Given the description of an element on the screen output the (x, y) to click on. 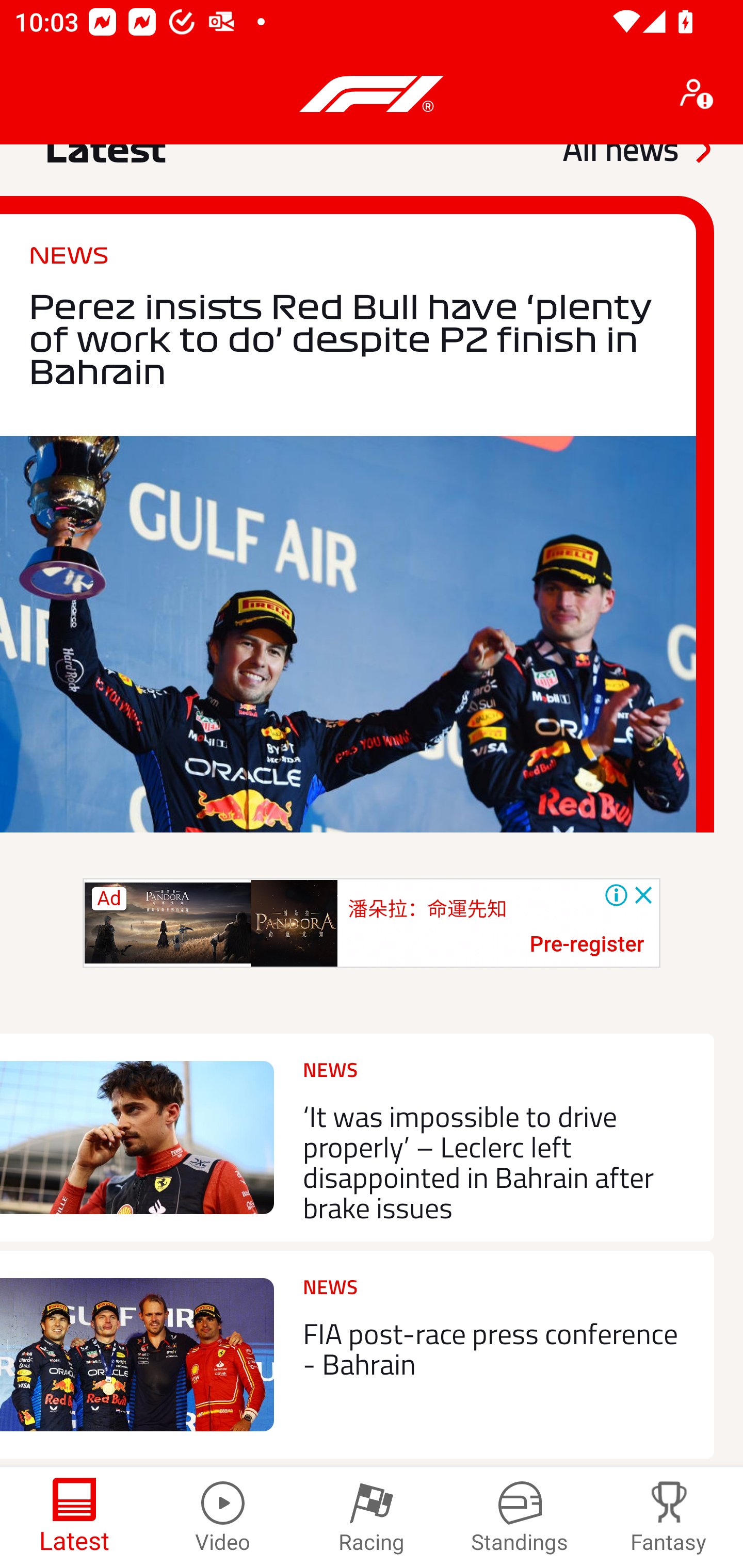
All news See all (635, 159)
潘朵拉：命運先知 (427, 908)
Pre-register (586, 945)
Video (222, 1517)
Racing (371, 1517)
Standings (519, 1517)
Fantasy (668, 1517)
